Given the description of an element on the screen output the (x, y) to click on. 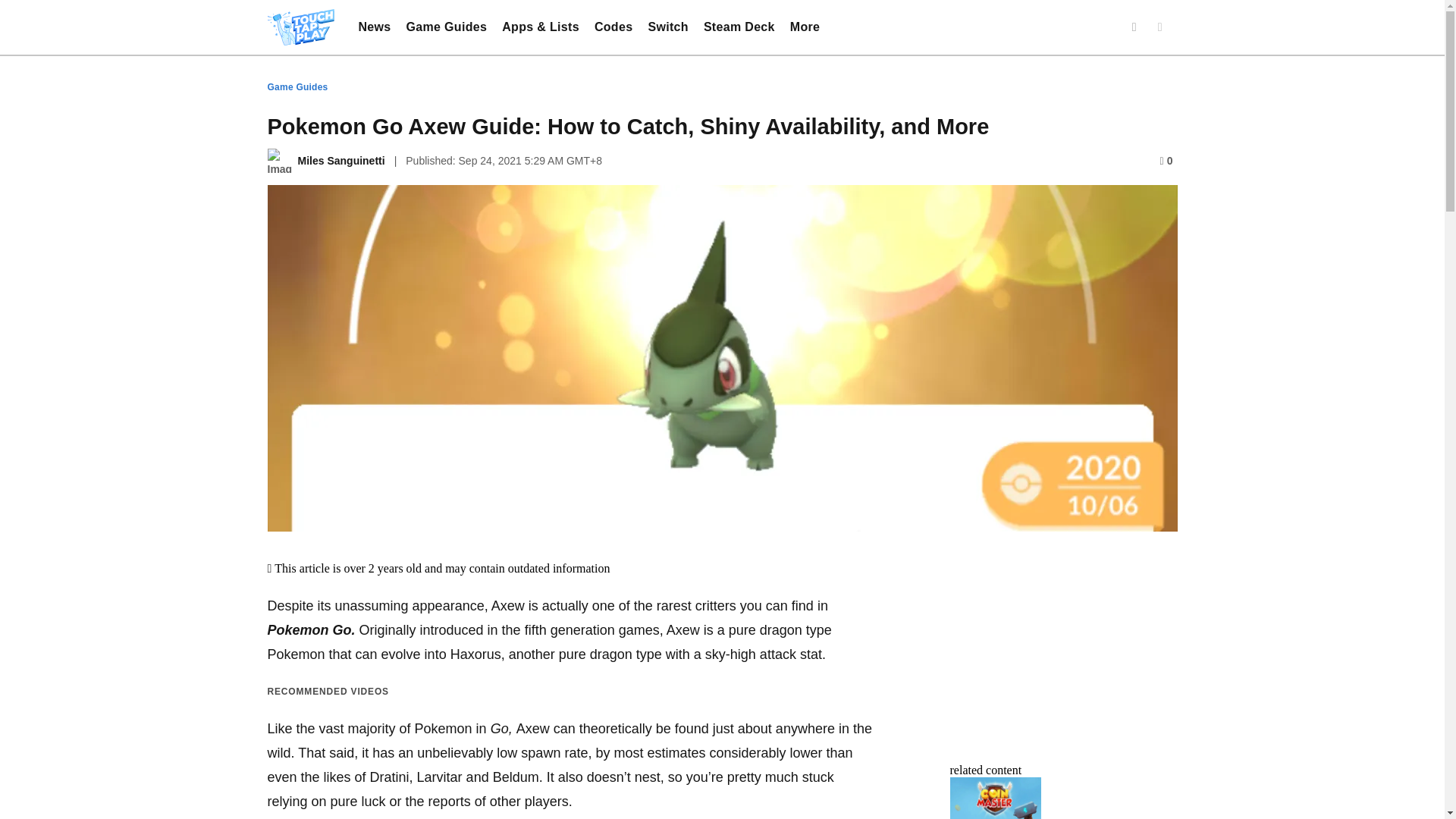
Codes (613, 26)
Game Guides (446, 26)
News (374, 26)
Steam Deck (738, 26)
Switch (667, 26)
